Given the description of an element on the screen output the (x, y) to click on. 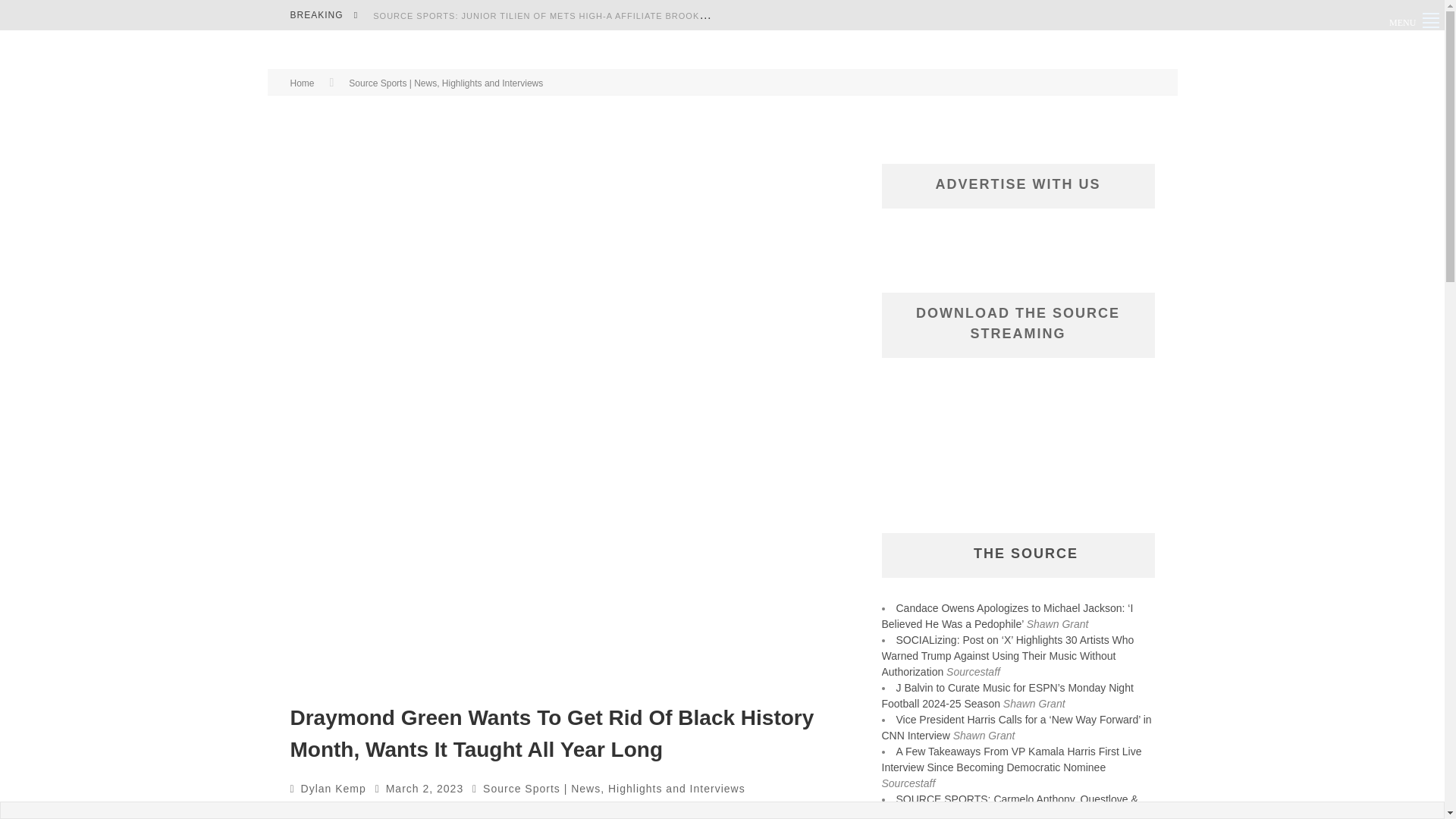
Home (301, 82)
Dylan Kemp (333, 788)
